Given the description of an element on the screen output the (x, y) to click on. 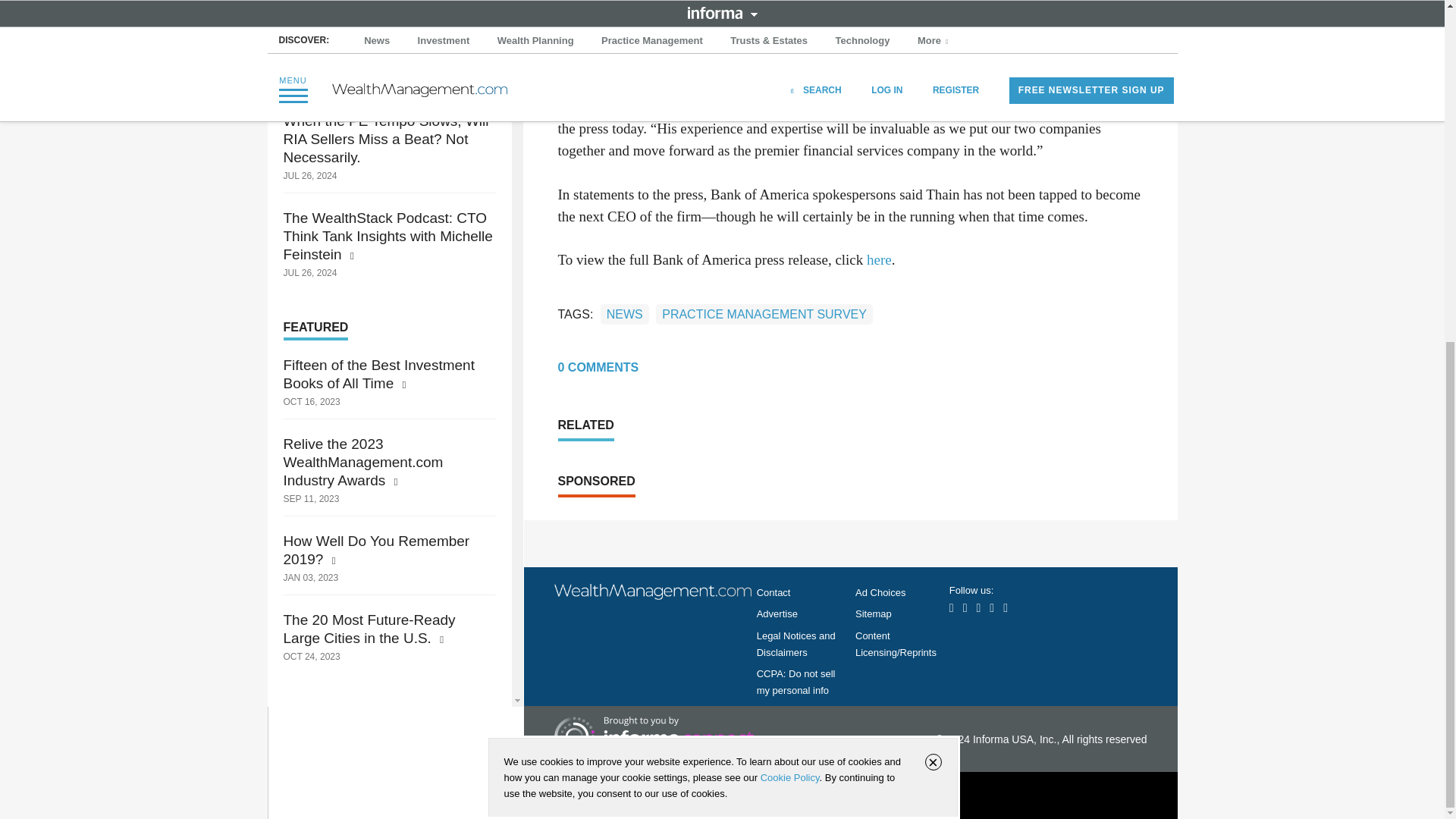
Cookie Policy (789, 194)
